Given the description of an element on the screen output the (x, y) to click on. 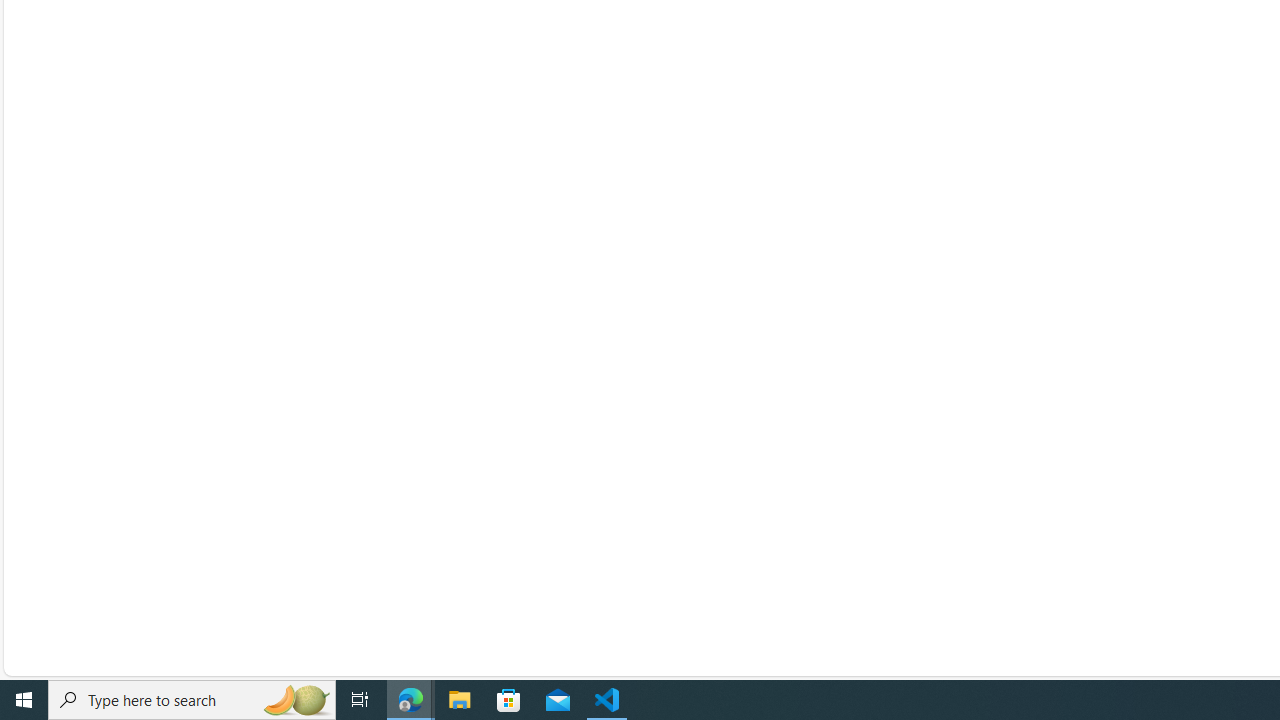
Surface Pro (587, 340)
Account profile (859, 340)
How to buy for your school (1126, 468)
Surface Laptop (587, 372)
AI in Windows What's new (494, 500)
Microsoft Store Promise Microsoft Store (797, 532)
Surface Pro What's new (487, 339)
